Given the description of an element on the screen output the (x, y) to click on. 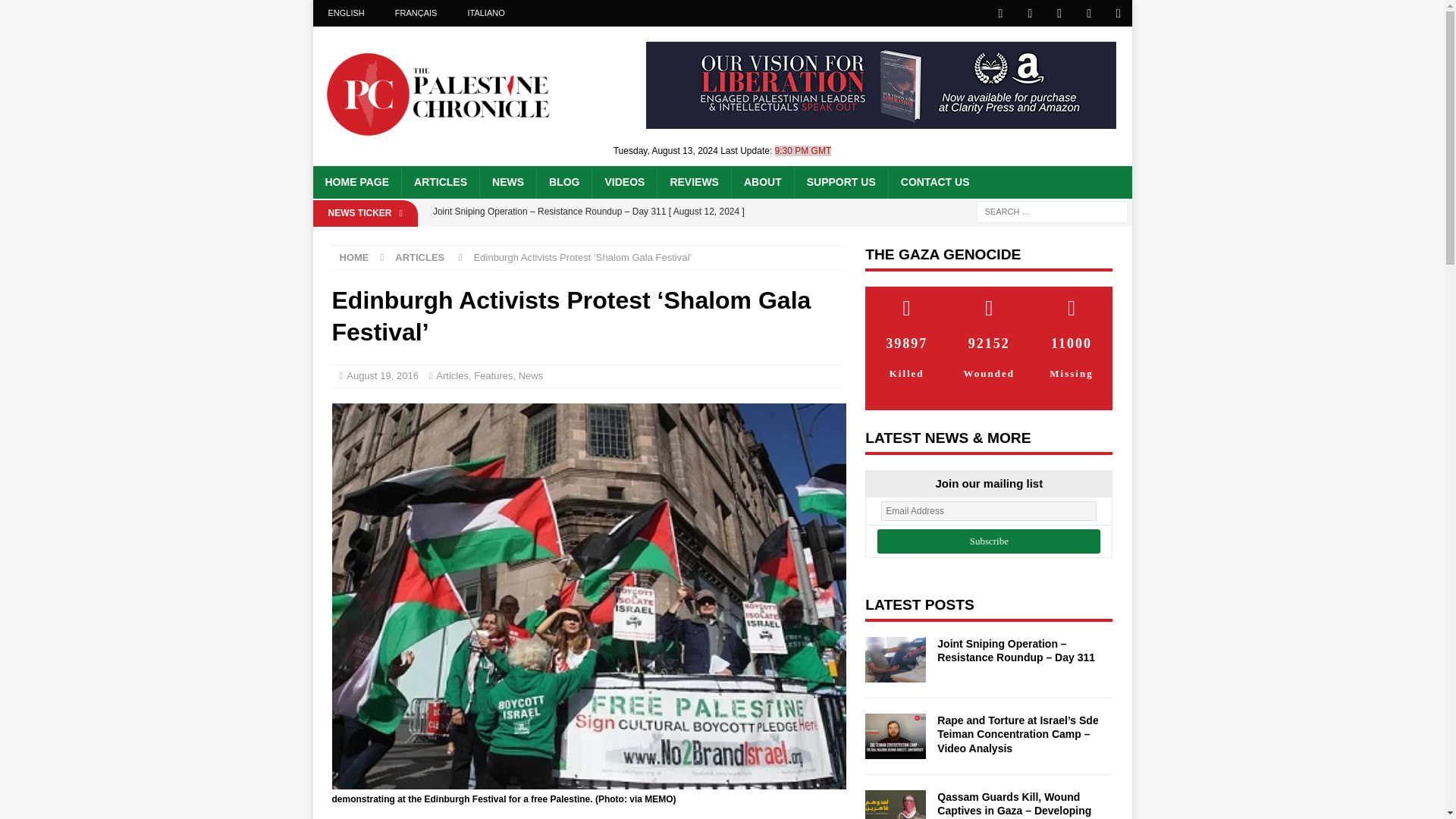
HOME PAGE (357, 182)
ARTICLES (440, 182)
CONTACT US (934, 182)
ABOUT (761, 182)
Search (56, 11)
BLOG (563, 182)
SUPPORT US (840, 182)
ENGLISH (345, 13)
Subscribe (988, 541)
